Given the description of an element on the screen output the (x, y) to click on. 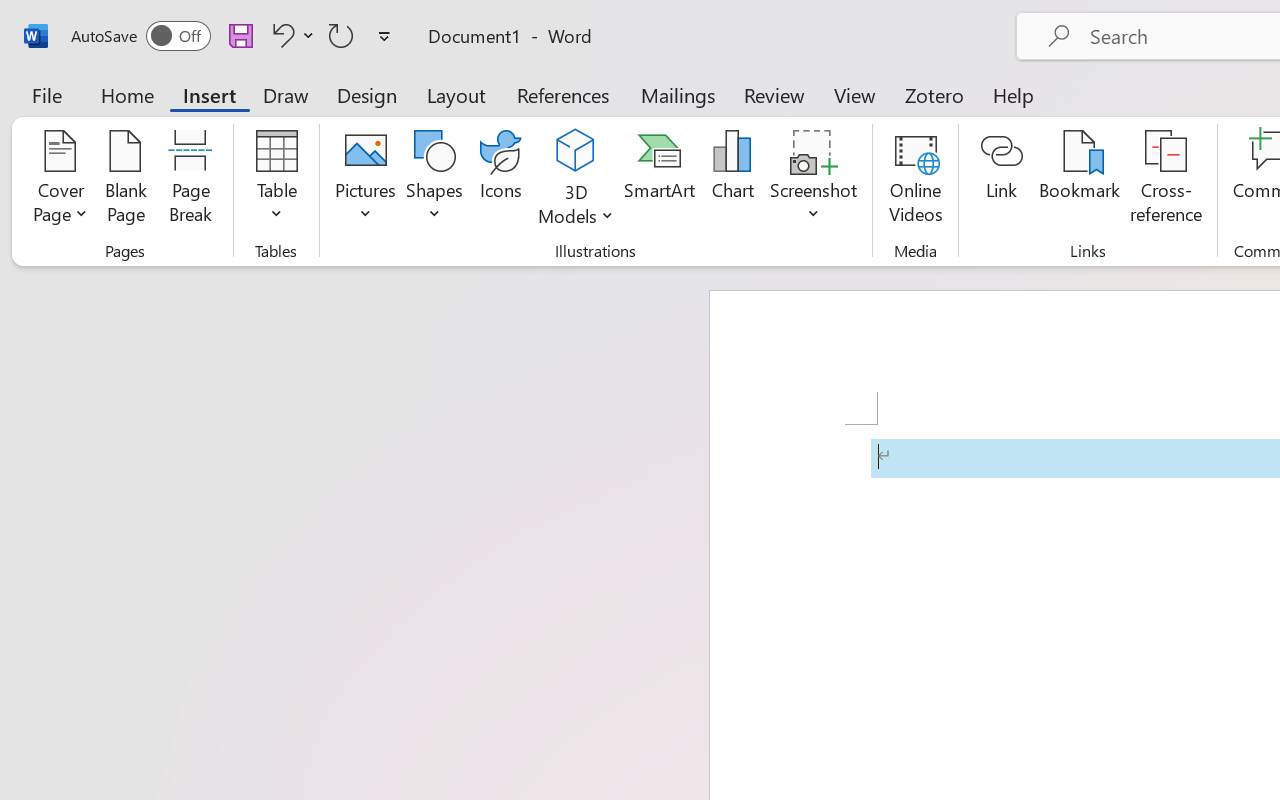
3D Models (576, 179)
SmartArt... (659, 179)
Page Break (190, 179)
Bookmark... (1079, 179)
Repeat Style (341, 35)
